Given the description of an element on the screen output the (x, y) to click on. 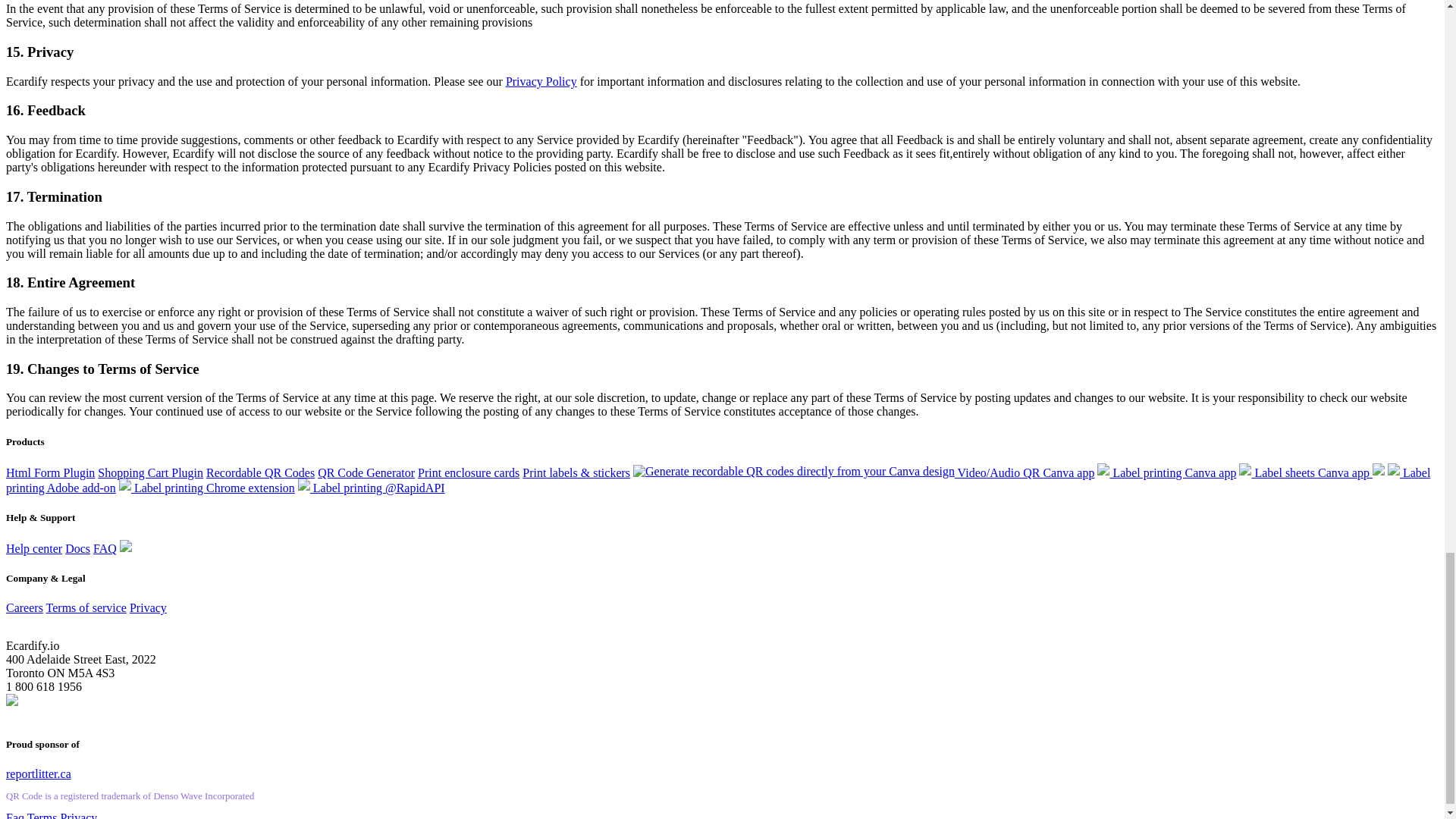
Label printing Adobe add-on (717, 480)
Recordable QR Codes (260, 472)
Shopping Cart Plugin (150, 472)
Privacy Policy (540, 81)
Label sheets Canva app (1311, 472)
Label printing Chrome extension (207, 487)
Html Form Plugin (49, 472)
QR Code Generator (365, 472)
Print enclosure cards (468, 472)
Label printing Canva app (1166, 472)
Generate recordable QR codes directly from your Canva design (794, 471)
Docs (77, 548)
FAQ (104, 548)
Help center (33, 548)
